Given the description of an element on the screen output the (x, y) to click on. 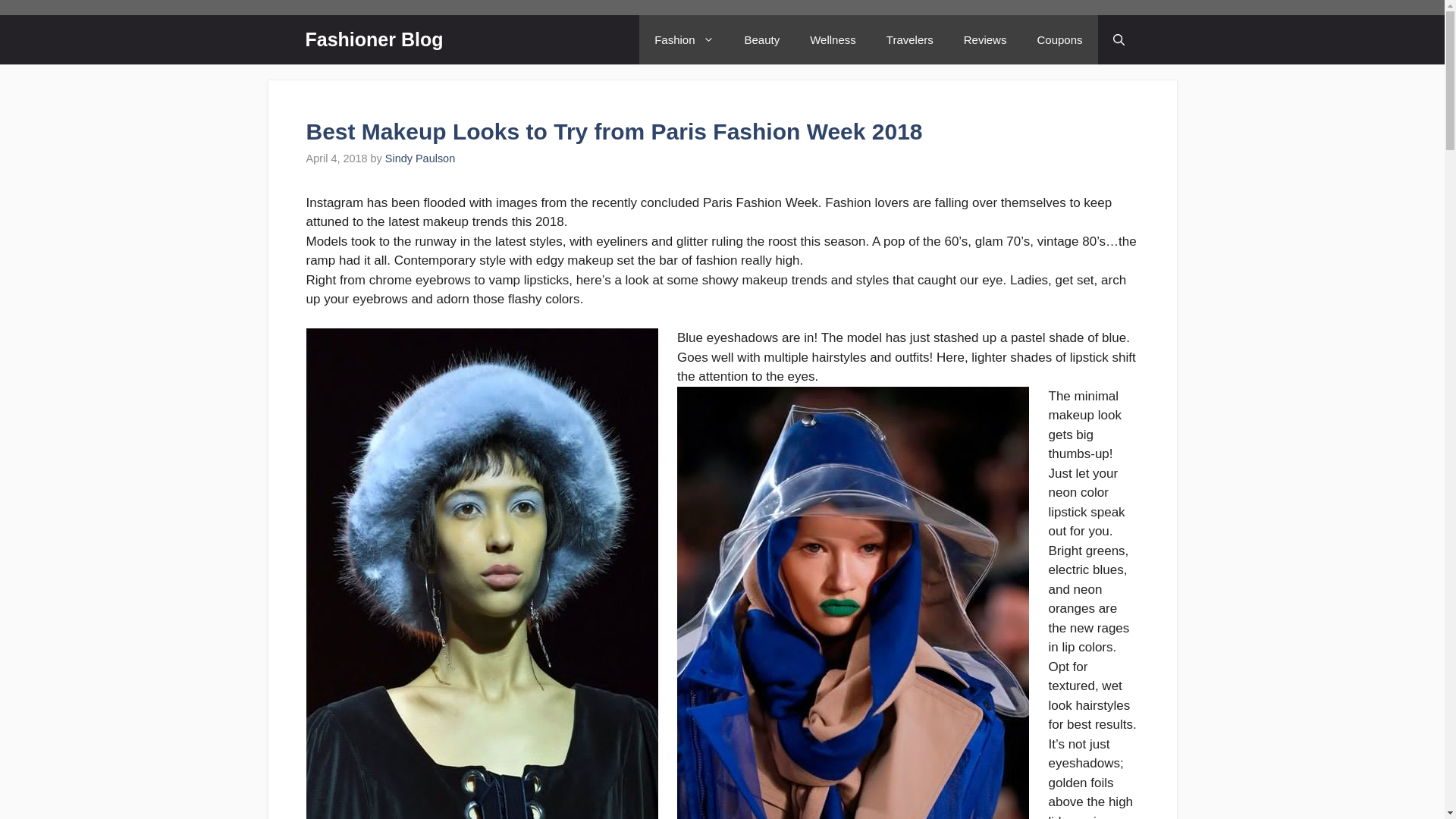
Fashioner Blog (373, 39)
Travelers (909, 39)
Coupons (1059, 39)
View all posts by Sindy Paulson (419, 158)
Beauty (761, 39)
Reviews (985, 39)
Sindy Paulson (419, 158)
Wellness (832, 39)
Fashion (684, 39)
